Given the description of an element on the screen output the (x, y) to click on. 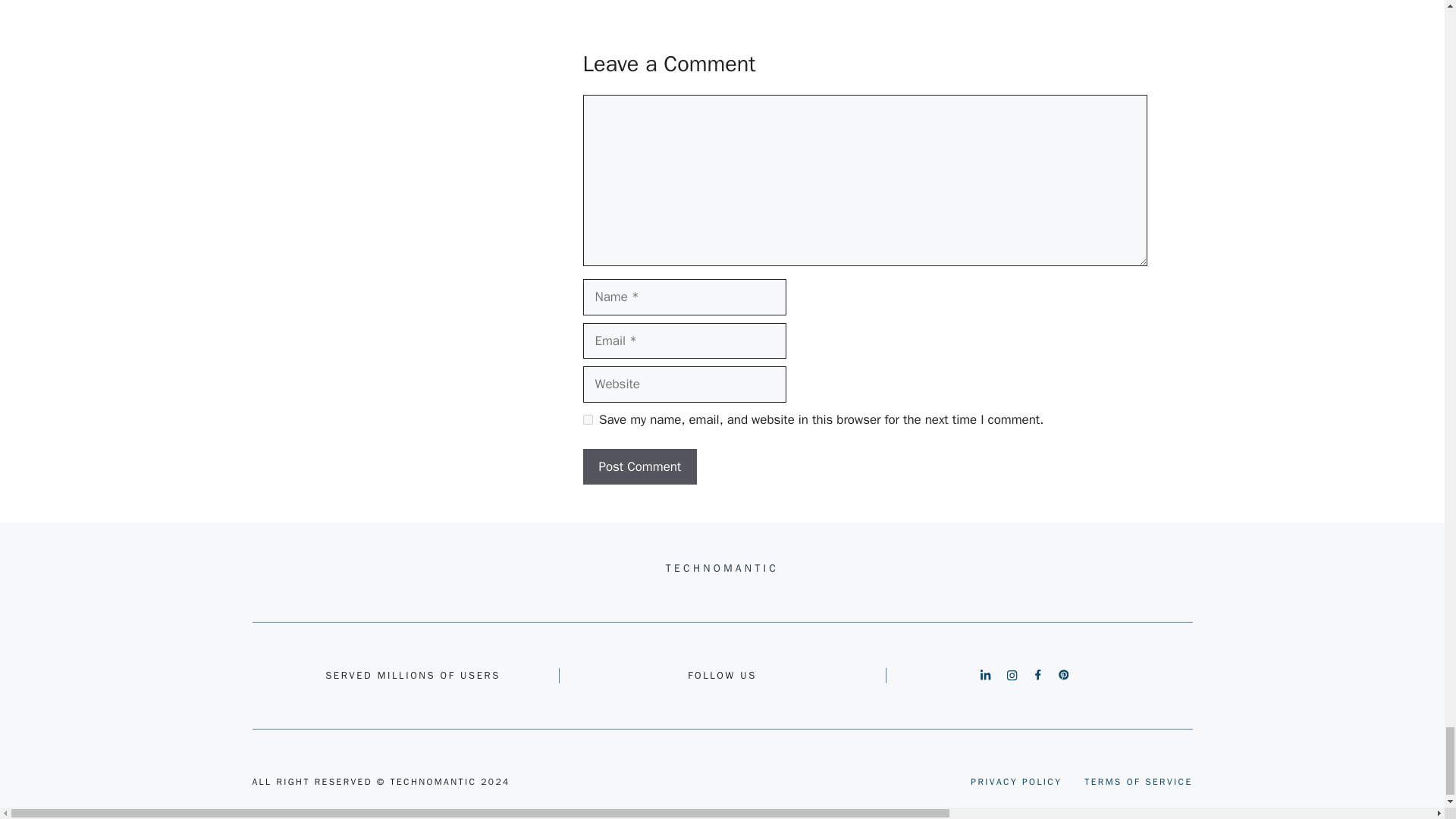
yes (587, 419)
Post Comment (639, 466)
